Given the description of an element on the screen output the (x, y) to click on. 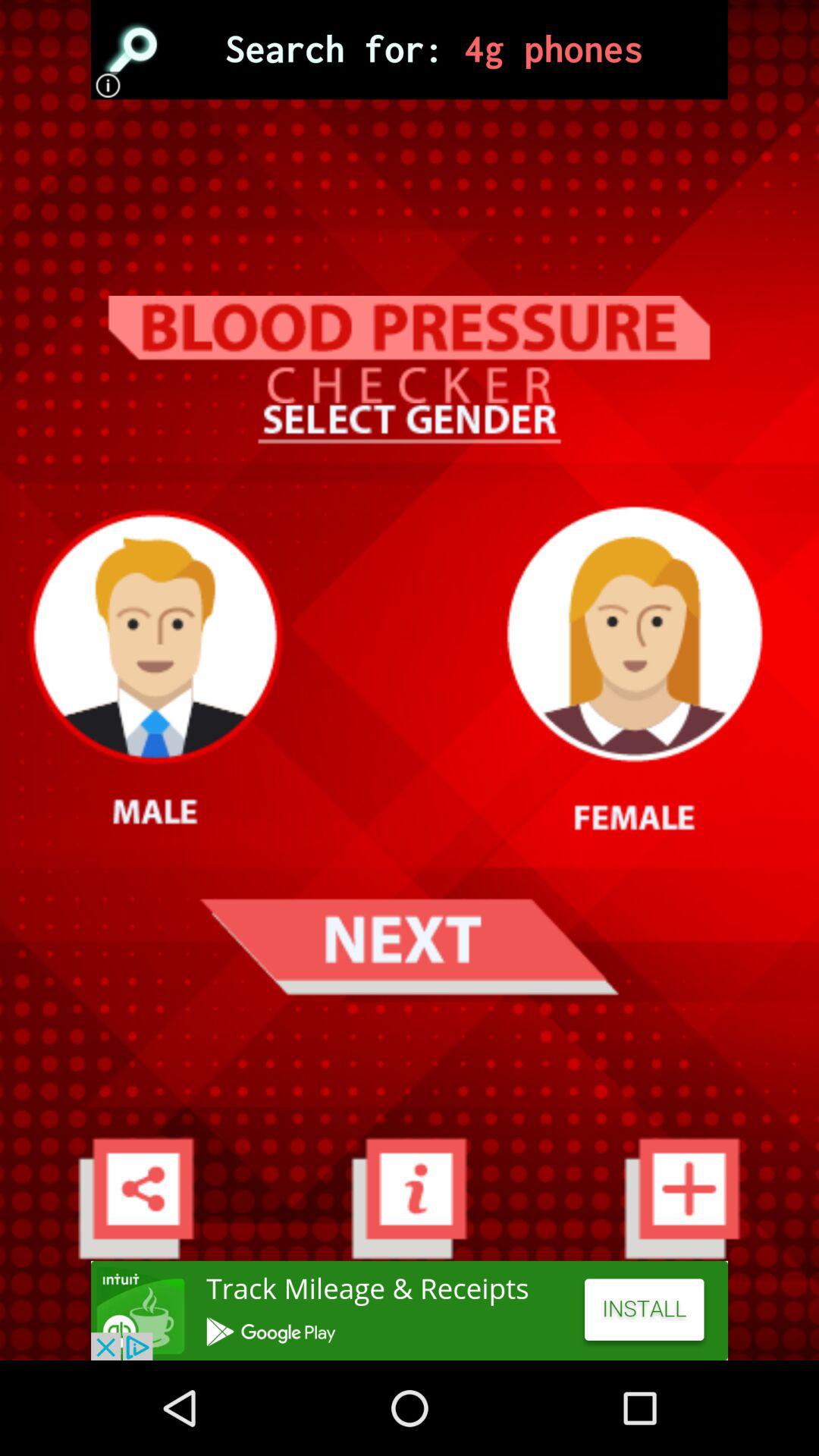
advertisement banner (409, 49)
